Given the description of an element on the screen output the (x, y) to click on. 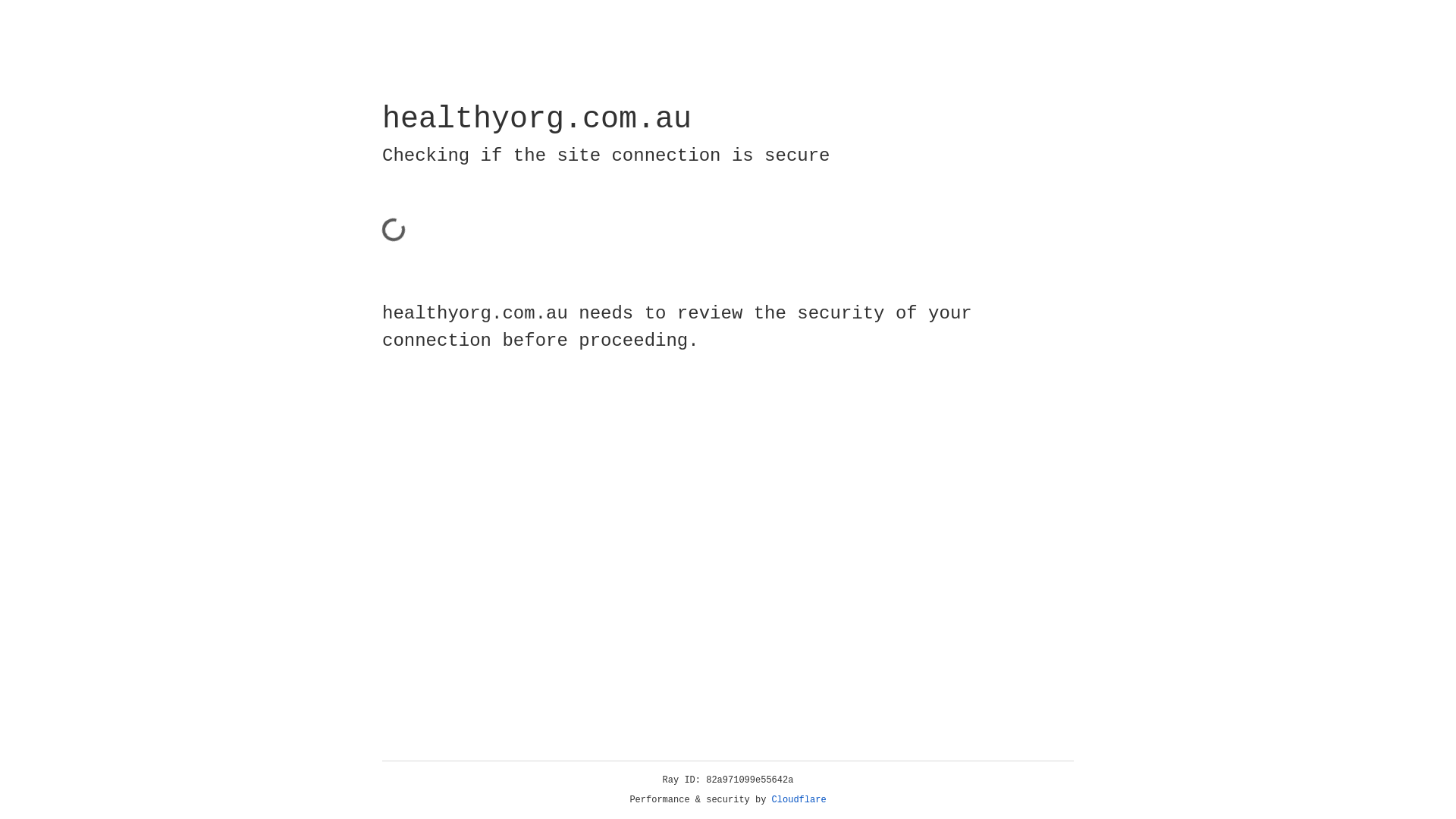
Cloudflare Element type: text (798, 799)
